Given the description of an element on the screen output the (x, y) to click on. 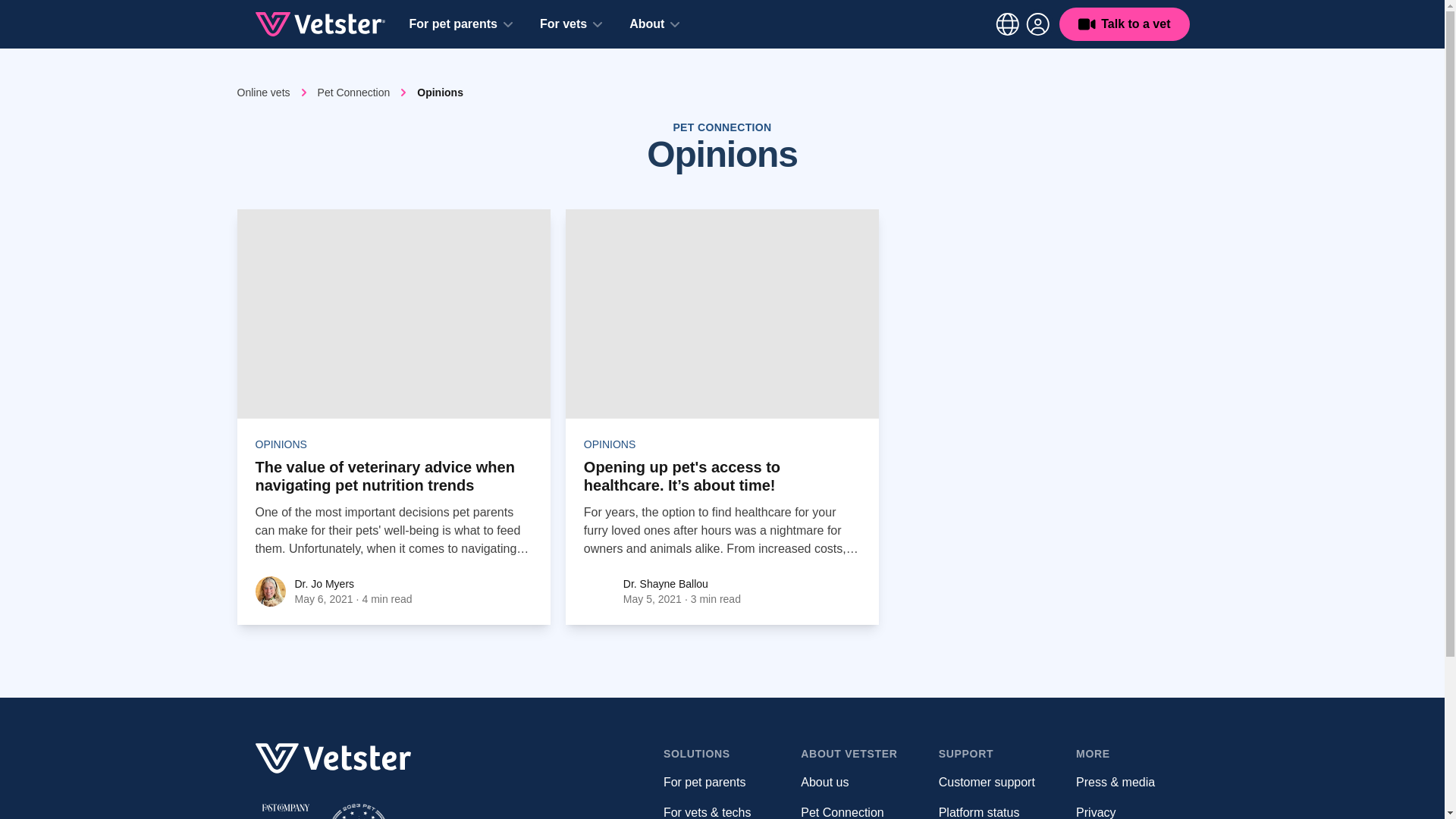
For pet parents (704, 781)
Privacy (1095, 812)
About us (824, 781)
Pet Connection (841, 812)
Dr. Jo Myers (323, 583)
Talk to a vet (1124, 23)
For vets (570, 23)
PET CONNECTION (721, 127)
For pet parents (460, 23)
